Given the description of an element on the screen output the (x, y) to click on. 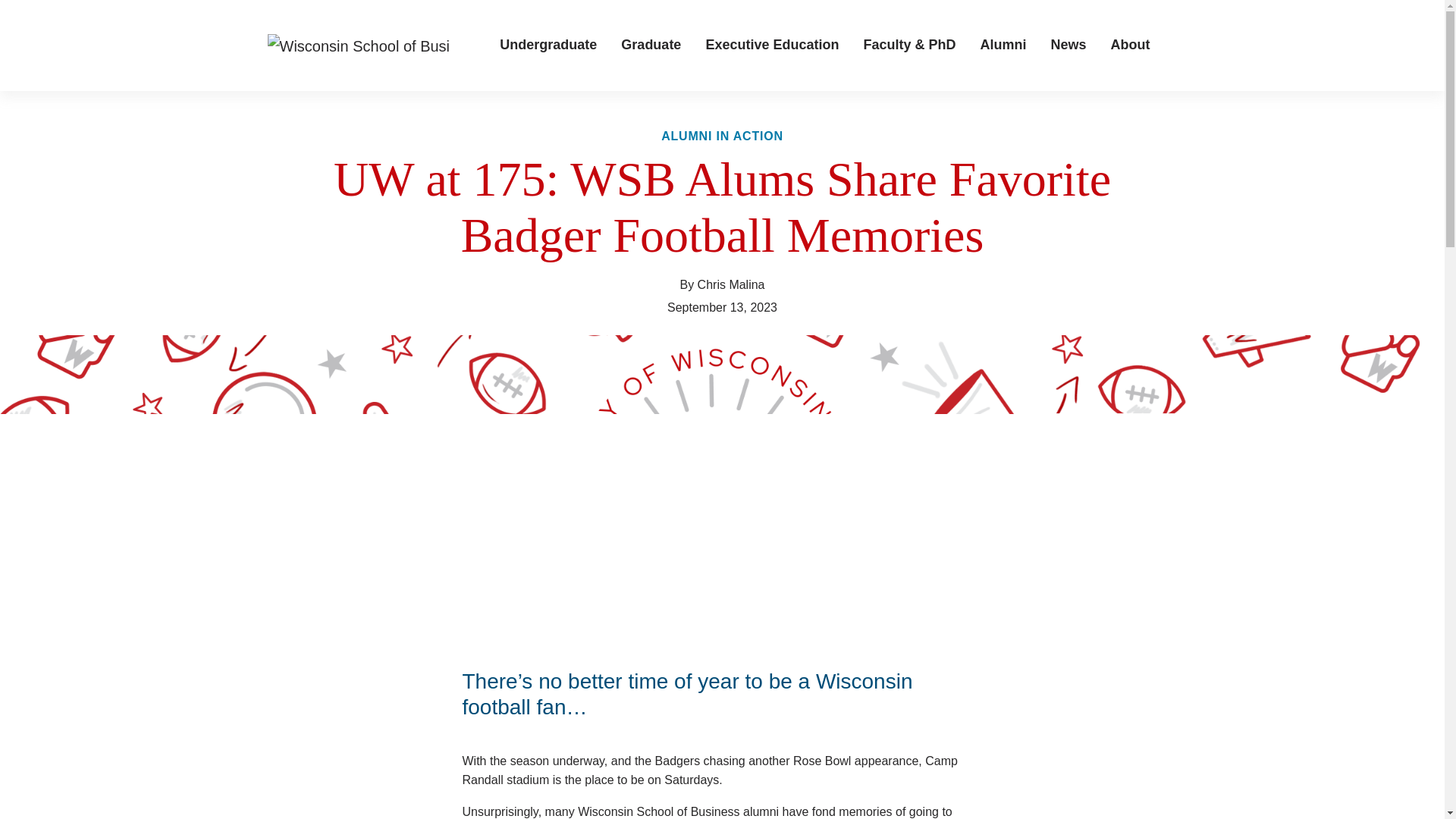
Undergraduate (547, 45)
Graduate (650, 45)
Executive Education (771, 45)
